Given the description of an element on the screen output the (x, y) to click on. 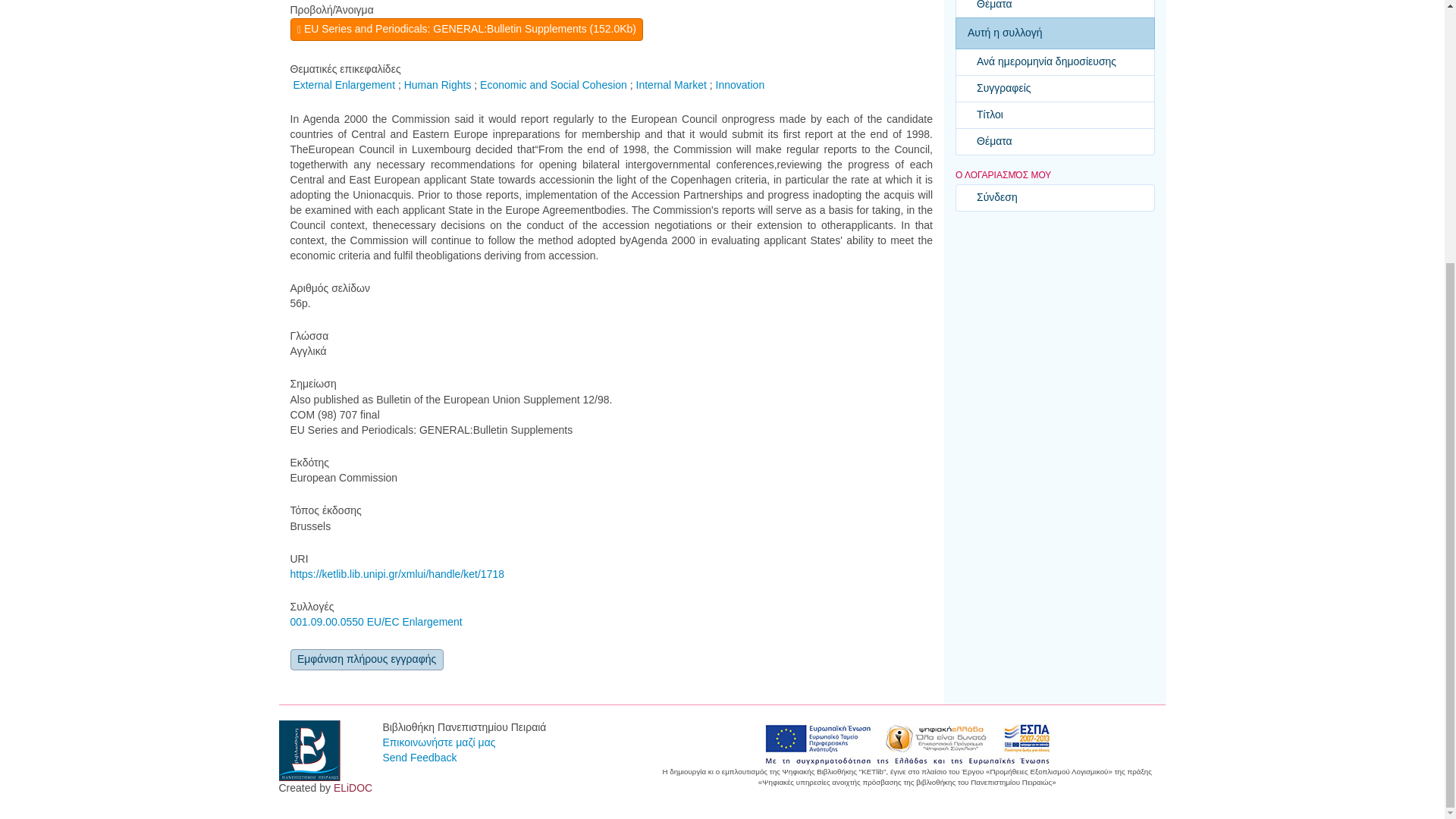
Innovation (740, 84)
Human Rights (437, 84)
Internal Market (671, 84)
External Enlargement (343, 84)
Economic and Social Cohesion (553, 84)
